Given the description of an element on the screen output the (x, y) to click on. 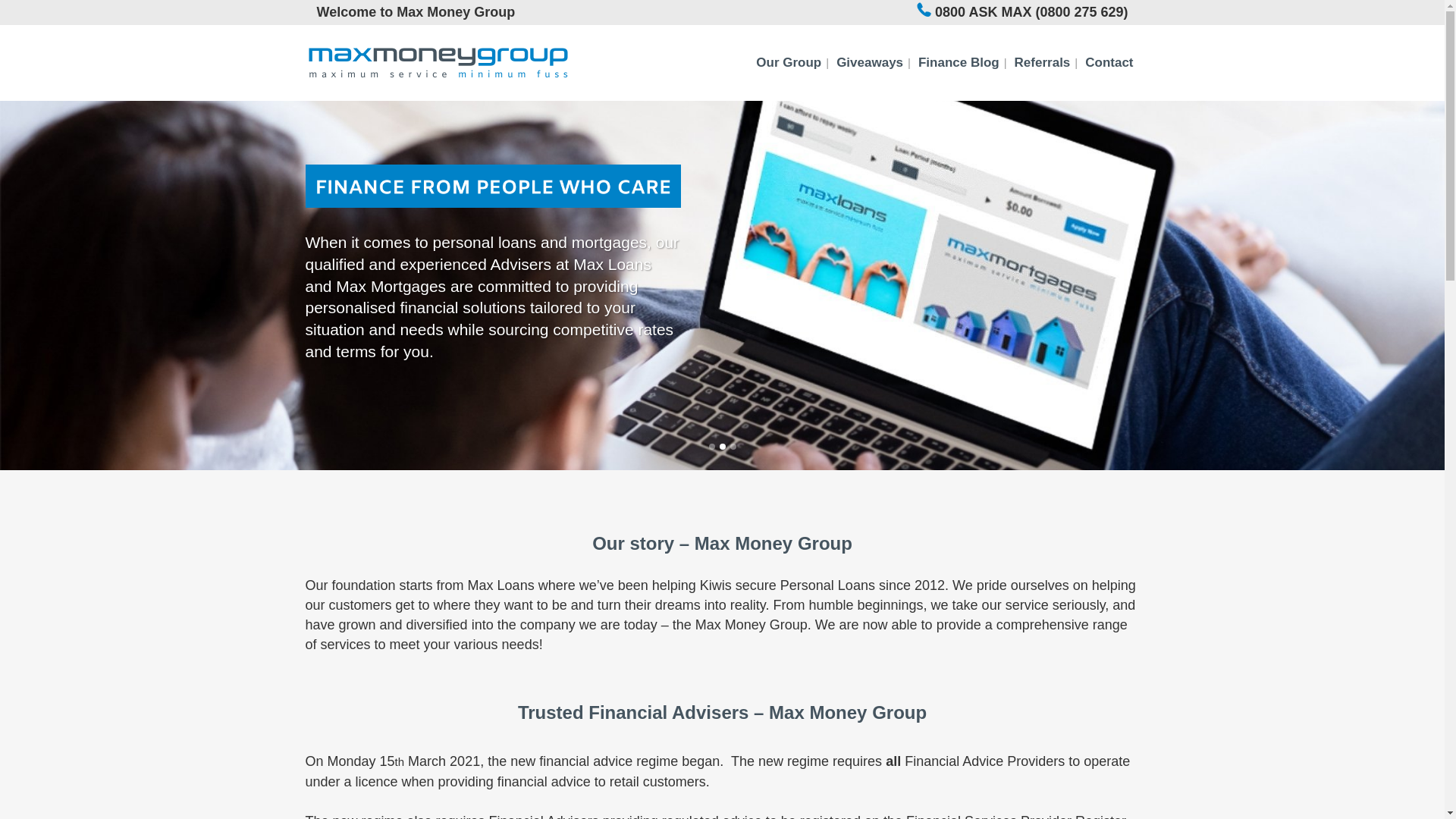
Finance Blog (959, 62)
Referrals (1043, 62)
Giveaways (868, 62)
Our Group (788, 62)
